Given the description of an element on the screen output the (x, y) to click on. 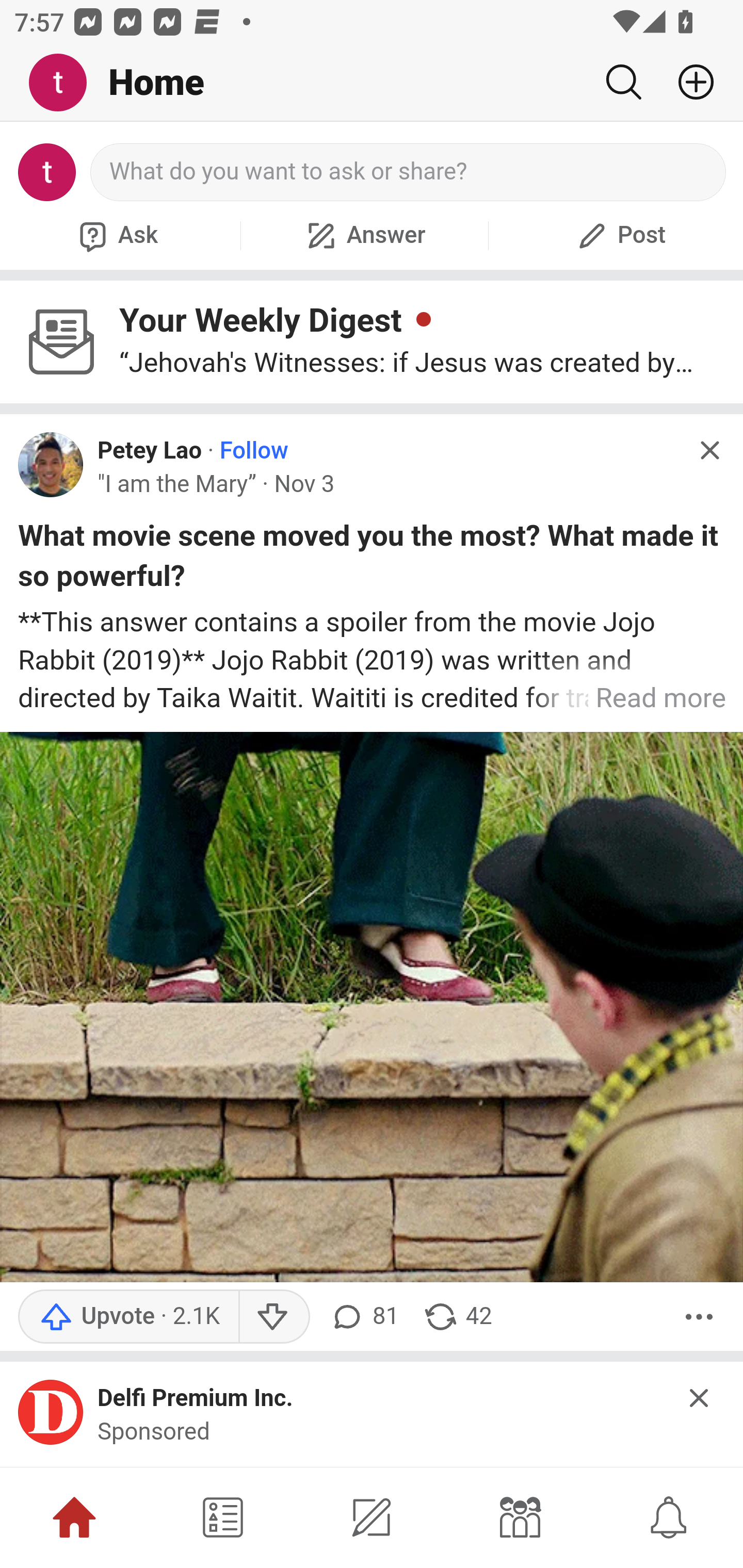
Me Home Search Add (371, 82)
Me (64, 83)
Search (623, 82)
Add (688, 82)
